Given the description of an element on the screen output the (x, y) to click on. 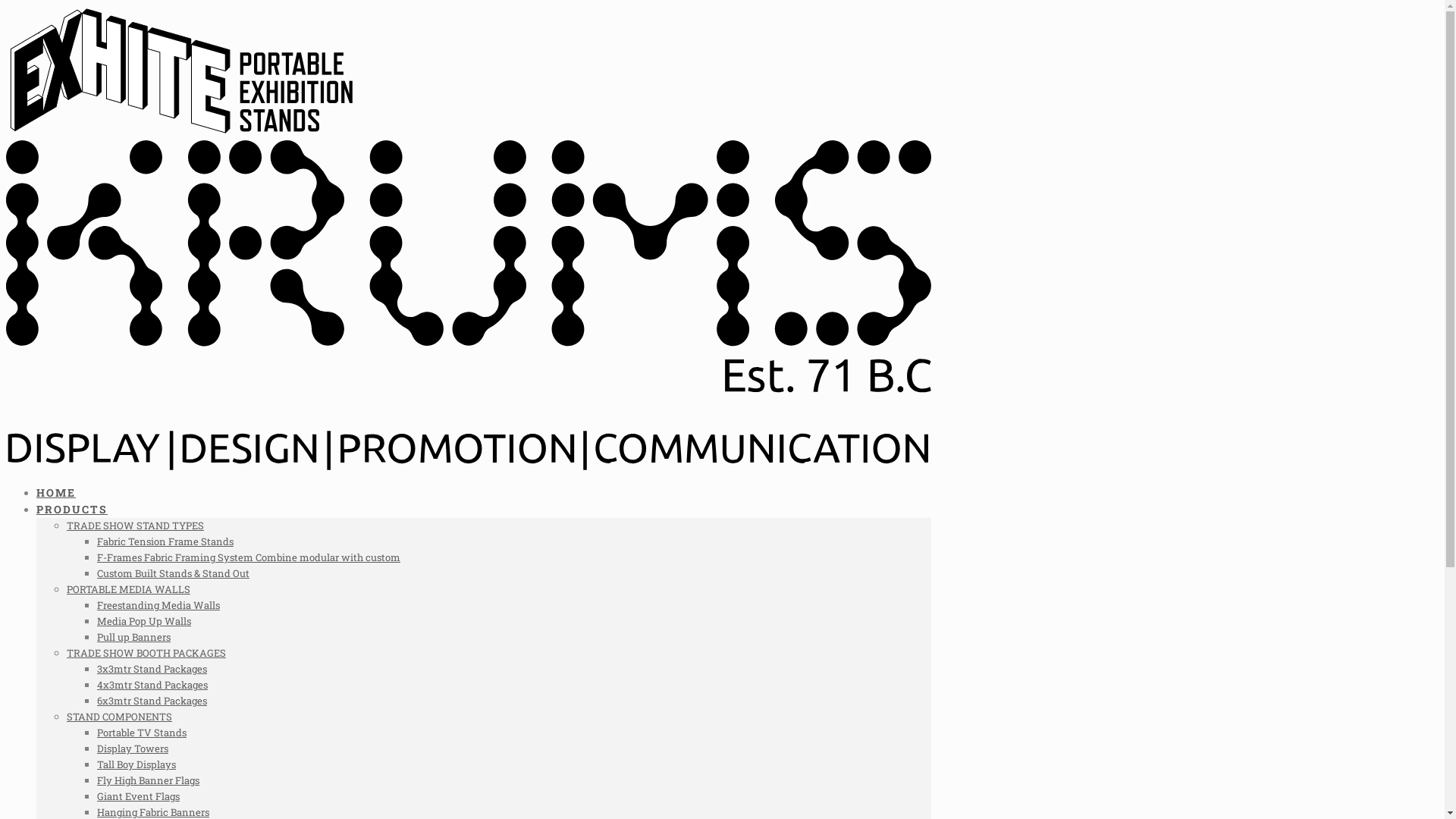
4x3mtr Stand Packages Element type: text (152, 684)
3x3mtr Stand Packages Element type: text (152, 668)
Freestanding Media Walls Element type: text (158, 604)
HOME Element type: text (55, 492)
Portable TV Stands Element type: text (141, 732)
Media Pop Up Walls Element type: text (144, 620)
Tall Boy Displays Element type: text (136, 764)
Fabric Tension Frame Stands Element type: text (165, 541)
STAND COMPONENTS Element type: text (119, 716)
Fly High Banner Flags Element type: text (148, 780)
TRADE SHOW BOOTH PACKAGES Element type: text (145, 652)
PORTABLE MEDIA WALLS Element type: text (128, 589)
F-Frames Fabric Framing System Combine modular with custom Element type: text (248, 557)
Display Towers Element type: text (132, 748)
TRADE SHOW STAND TYPES Element type: text (134, 525)
Pull up Banners Element type: text (133, 636)
Giant Event Flags Element type: text (138, 796)
6x3mtr Stand Packages Element type: text (152, 700)
Custom Built Stands & Stand Out Element type: text (173, 573)
PRODUCTS Element type: text (71, 509)
